Given the description of an element on the screen output the (x, y) to click on. 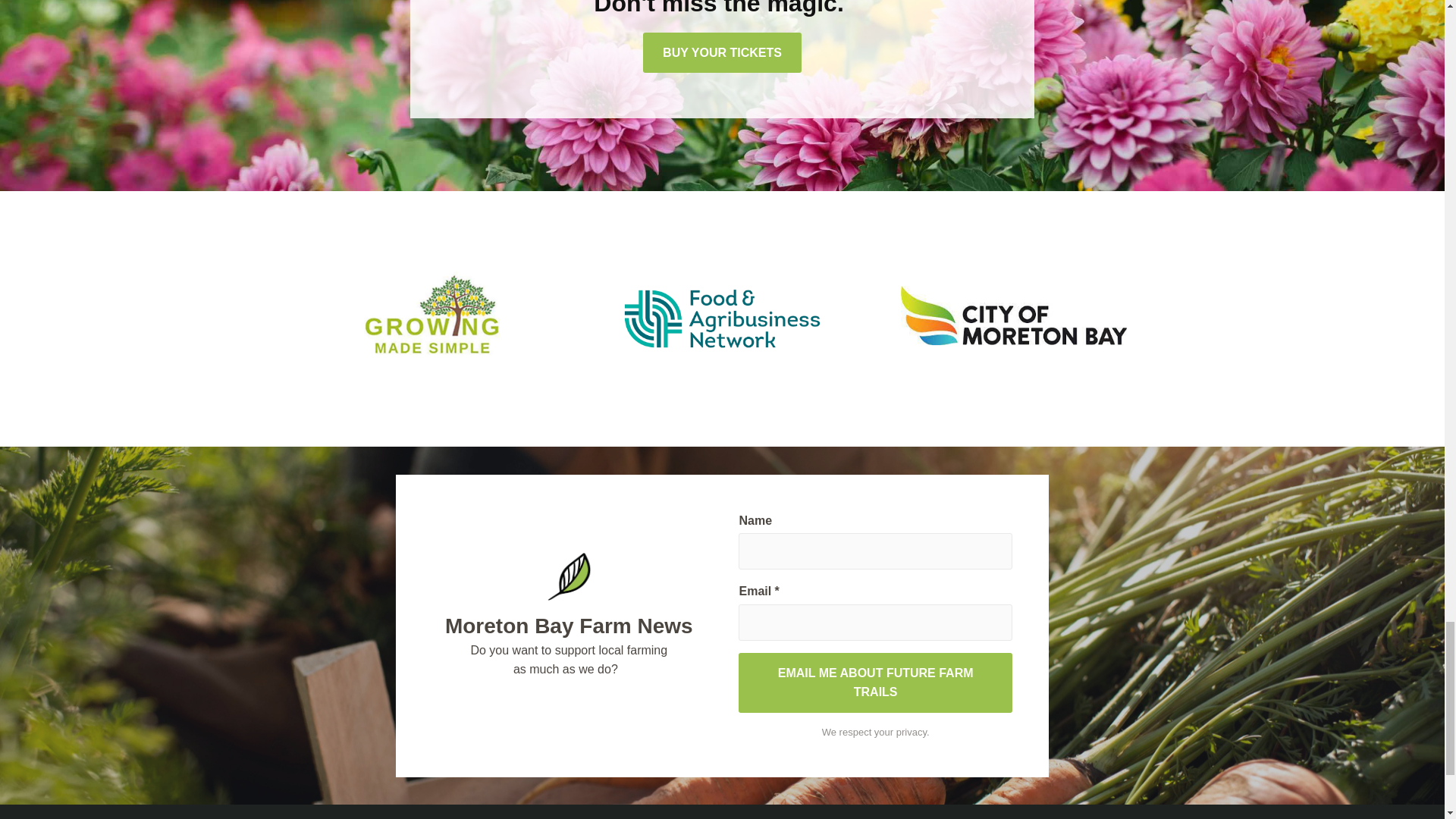
BUY YOUR TICKETS (722, 52)
EMAIL ME ABOUT FUTURE FARM TRAILS (874, 682)
EMAIL ME ABOUT FUTURE FARM TRAILS (874, 682)
